Given the description of an element on the screen output the (x, y) to click on. 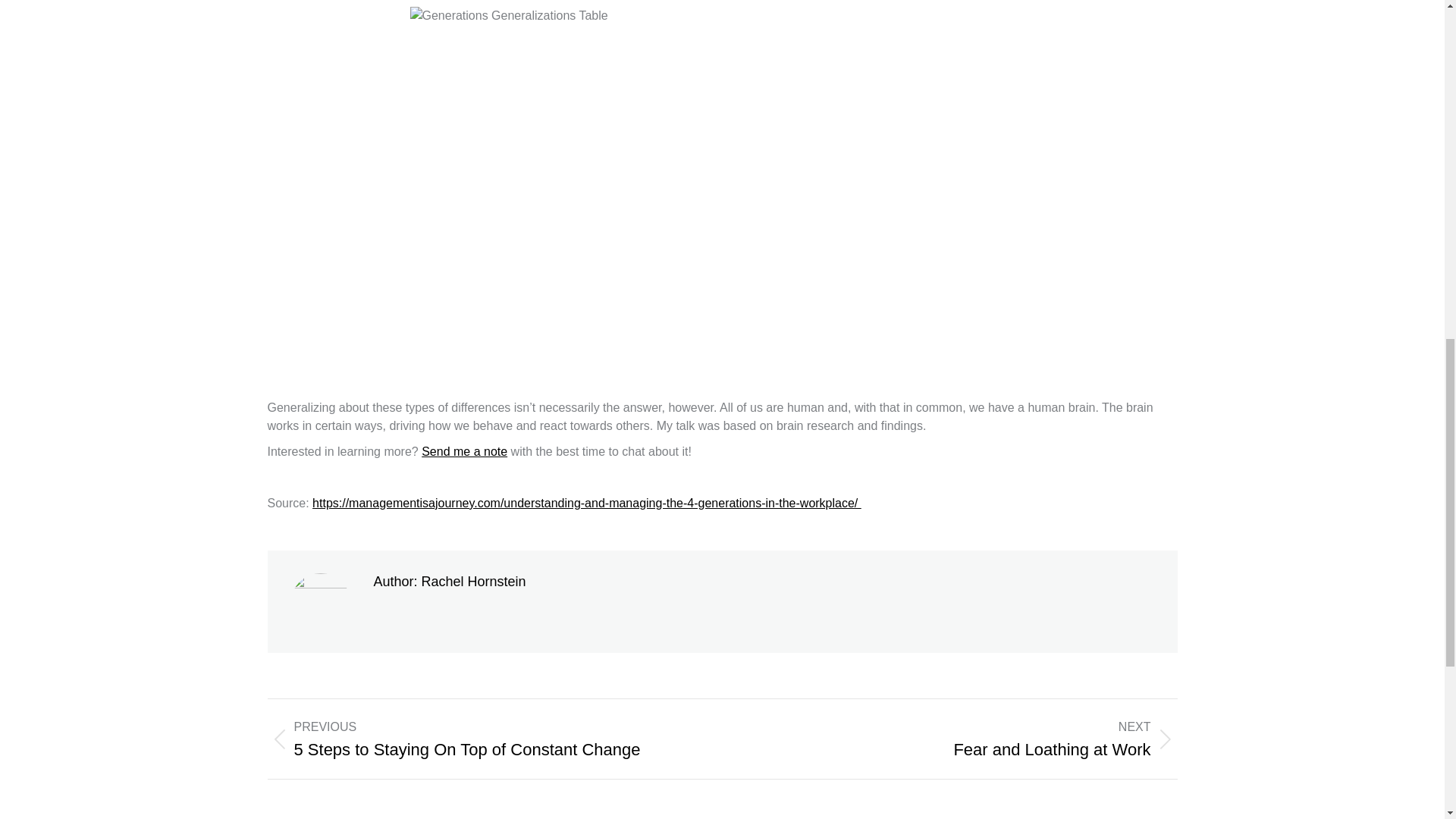
Send me a note (960, 739)
